Given the description of an element on the screen output the (x, y) to click on. 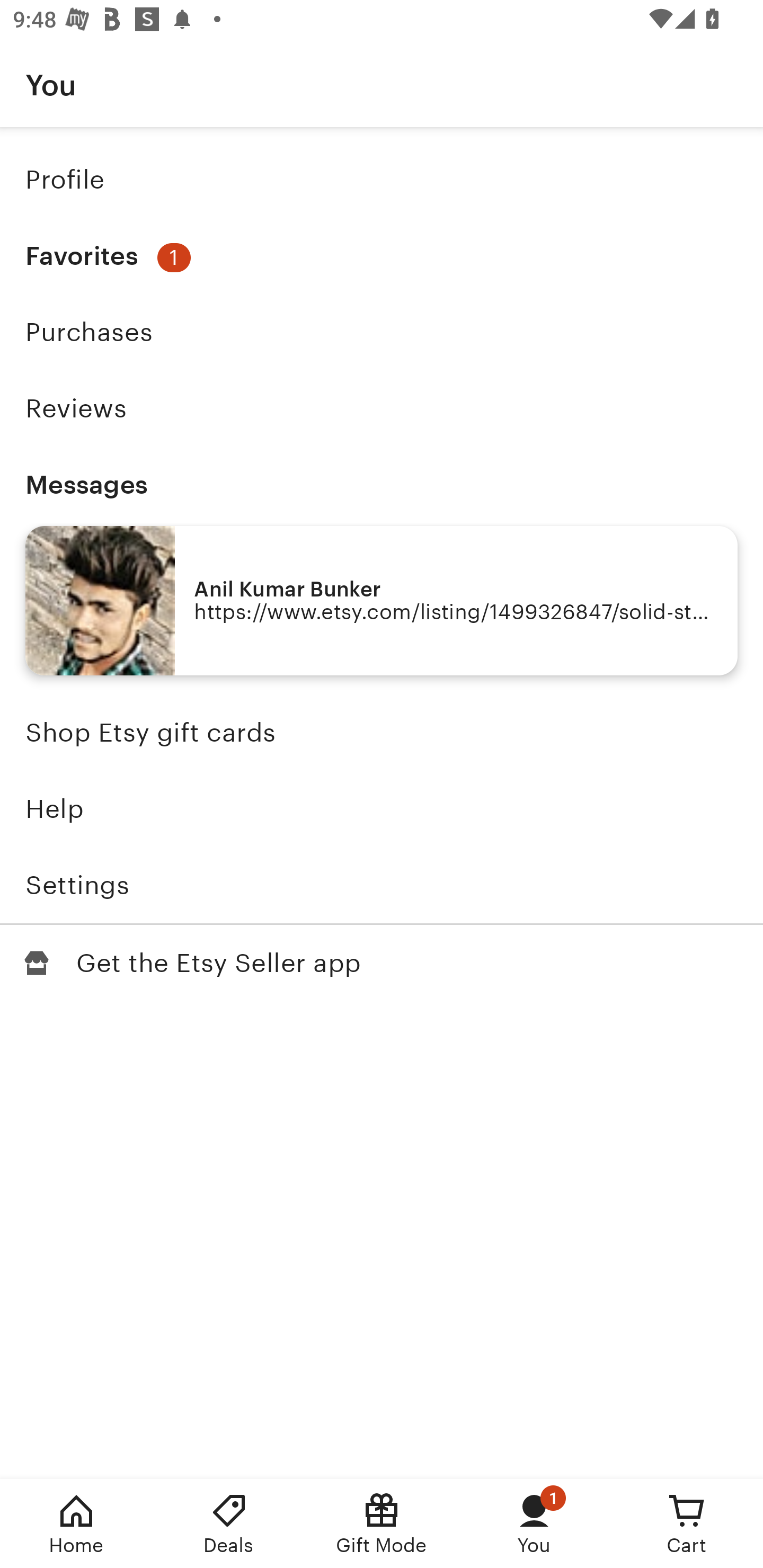
Profile (381, 179)
Favorites 1 (381, 255)
Purchases (381, 332)
Reviews (381, 408)
Messages (381, 484)
Shop Etsy gift cards (381, 732)
Help (381, 808)
Settings (381, 884)
Get the Etsy Seller app (381, 963)
Home (76, 1523)
Deals (228, 1523)
Gift Mode (381, 1523)
Cart (686, 1523)
